Given the description of an element on the screen output the (x, y) to click on. 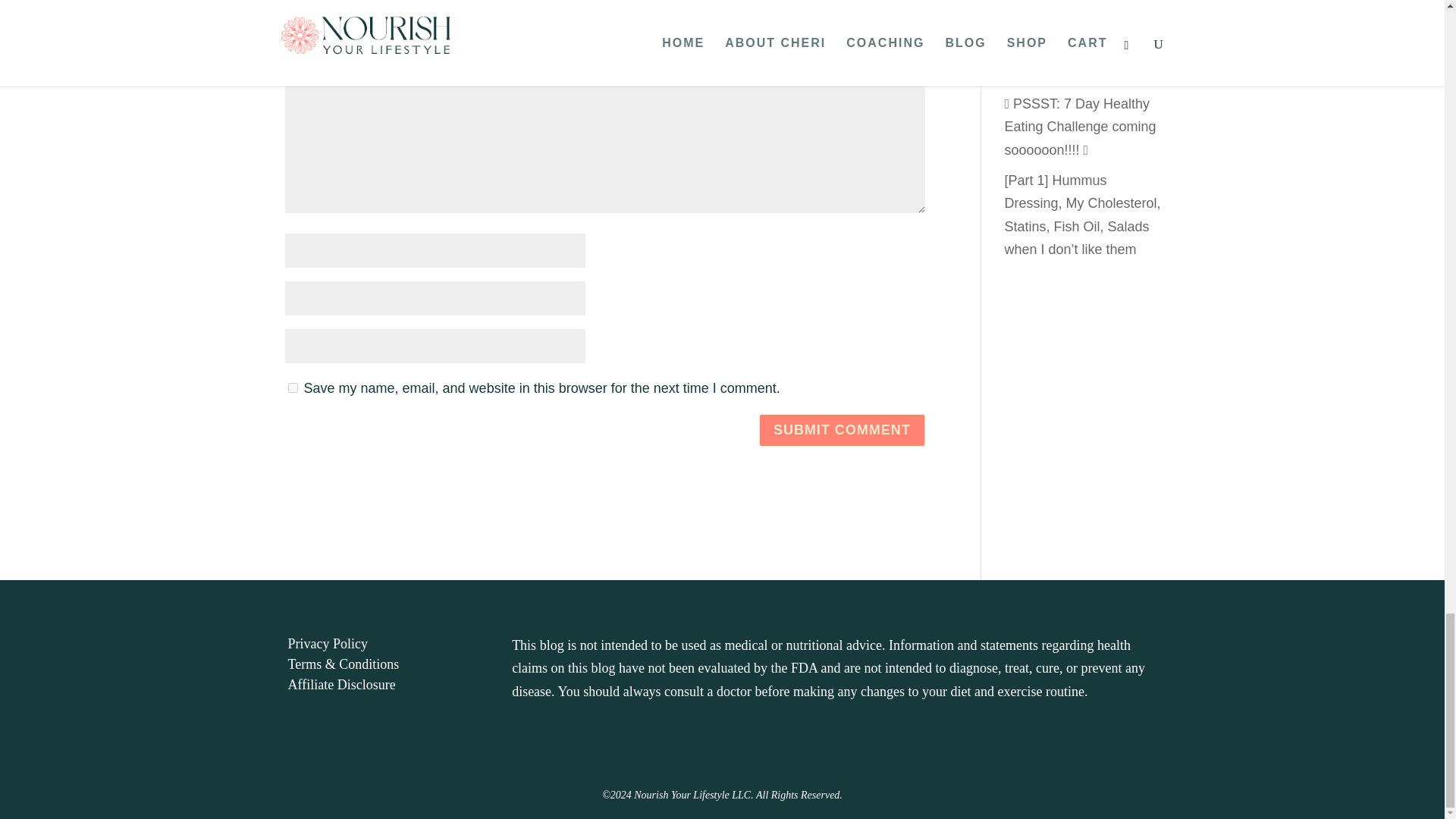
Affiliate Disclosure (342, 684)
yes (293, 388)
Submit Comment (841, 430)
Submit Comment (841, 430)
Privacy Policy (328, 643)
